Given the description of an element on the screen output the (x, y) to click on. 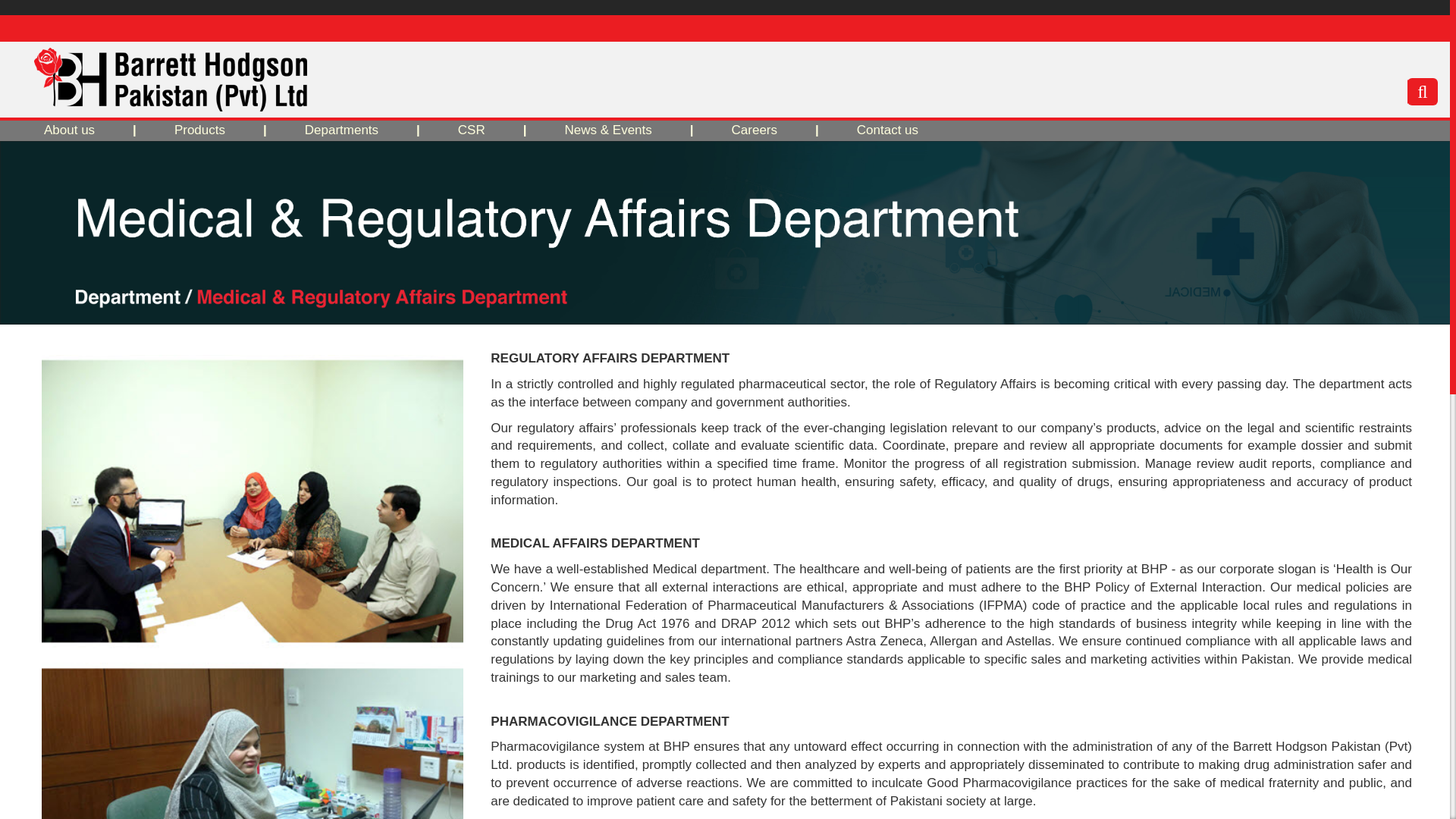
Departments (342, 130)
Click to start searching (1422, 91)
About us (69, 130)
Products (199, 130)
CSR (471, 130)
